Given the description of an element on the screen output the (x, y) to click on. 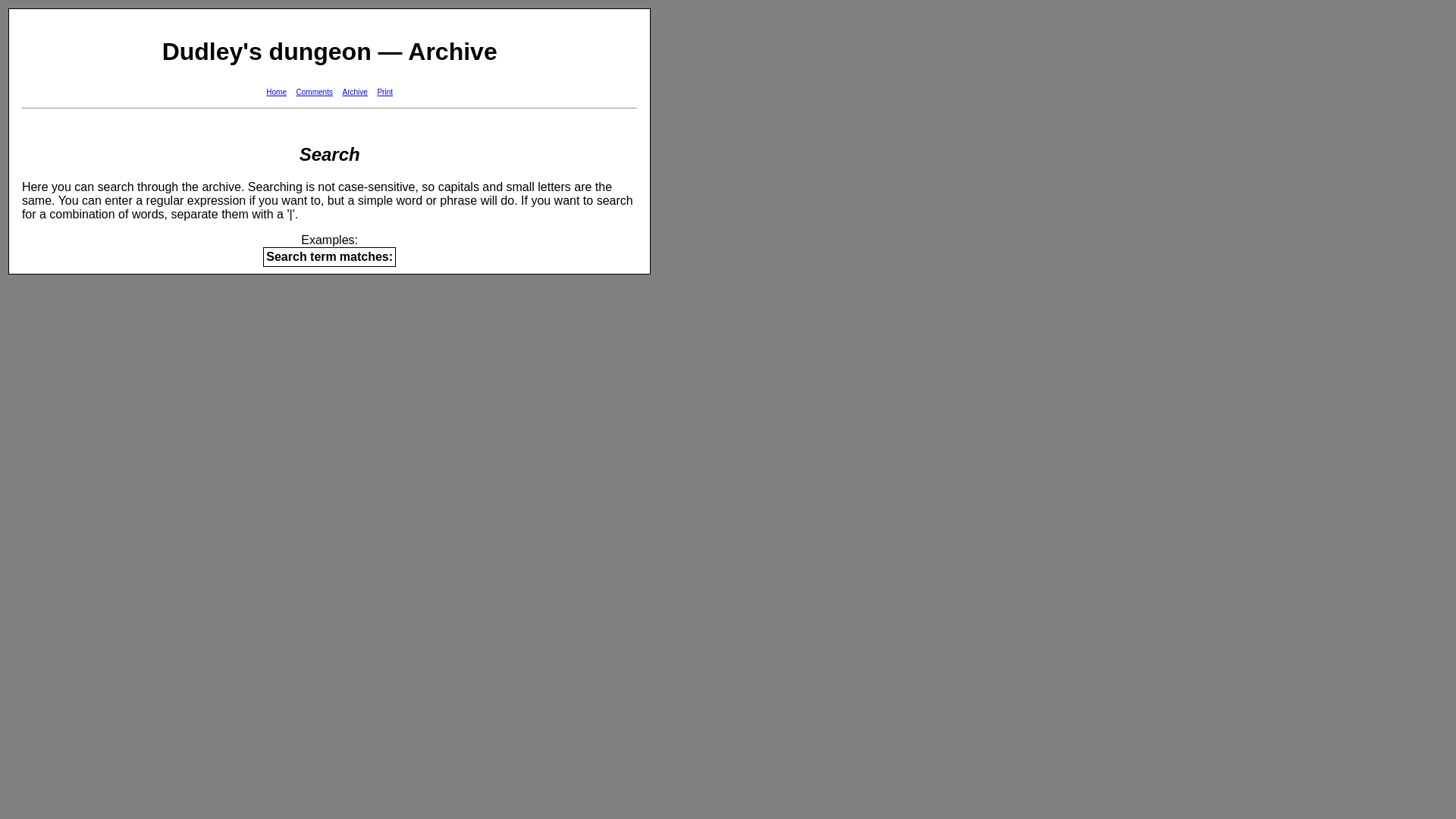
Archive (355, 91)
Print (385, 91)
Home (276, 91)
Comments (315, 91)
